Given the description of an element on the screen output the (x, y) to click on. 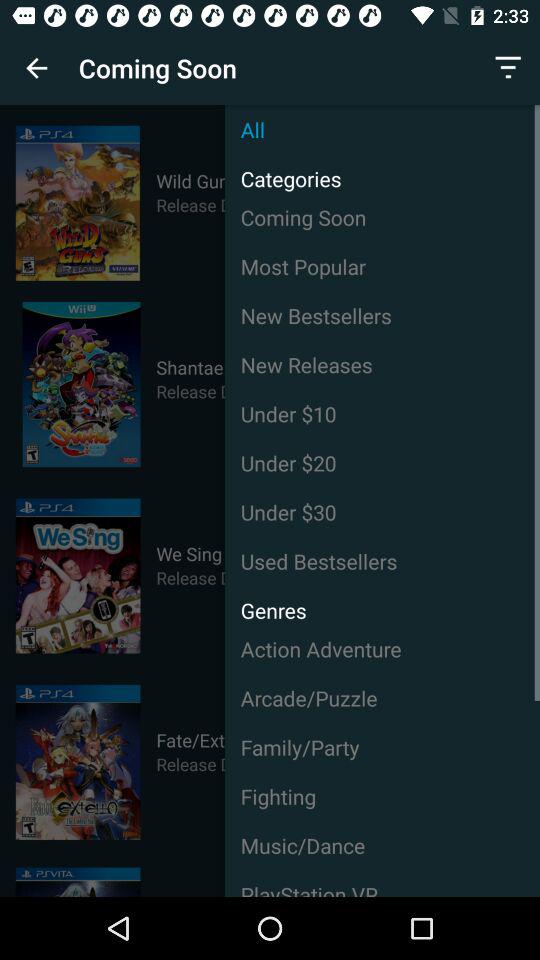
open the under $20 item (382, 462)
